Given the description of an element on the screen output the (x, y) to click on. 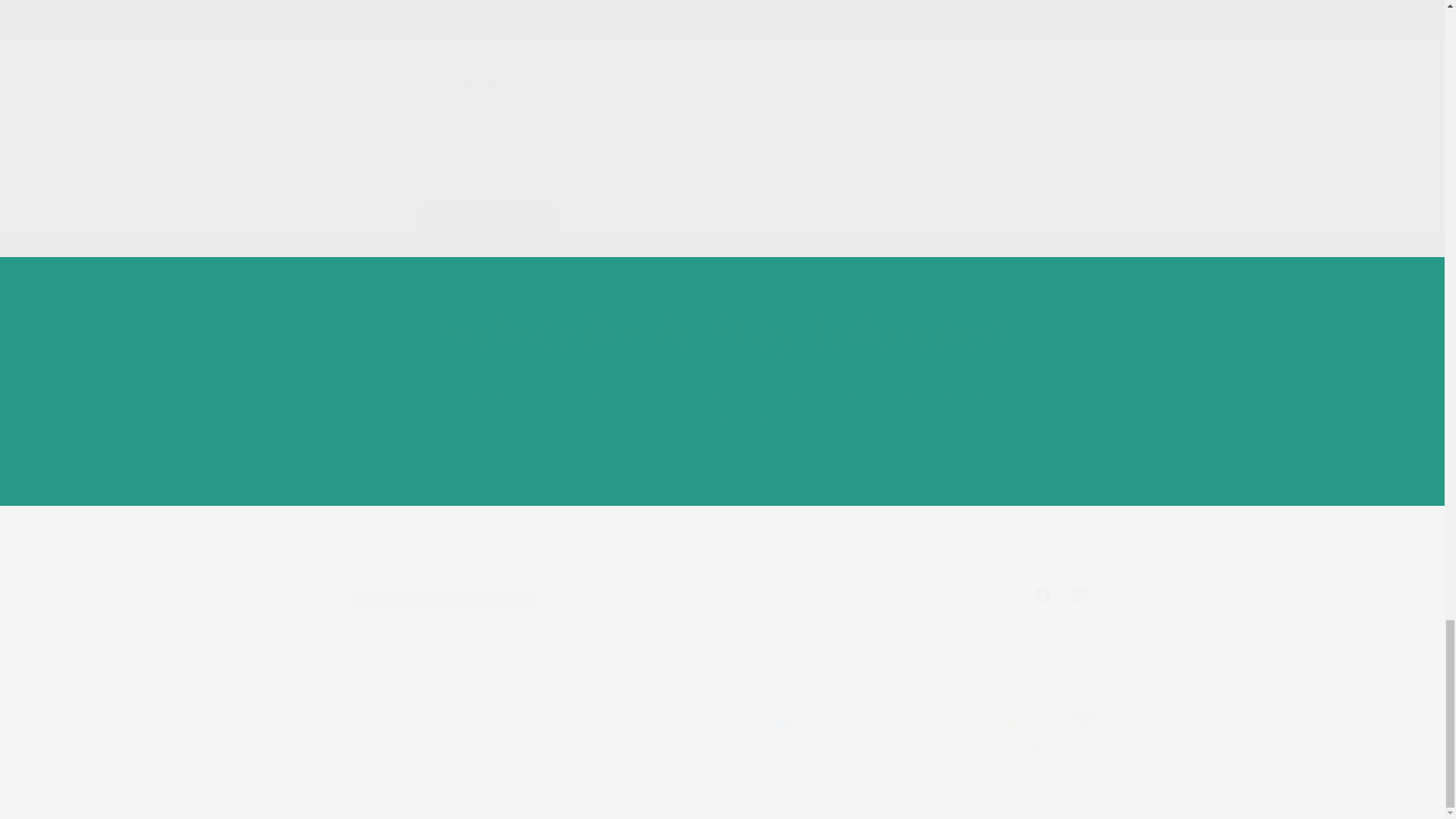
Email (722, 594)
Post comment (722, 469)
